Given the description of an element on the screen output the (x, y) to click on. 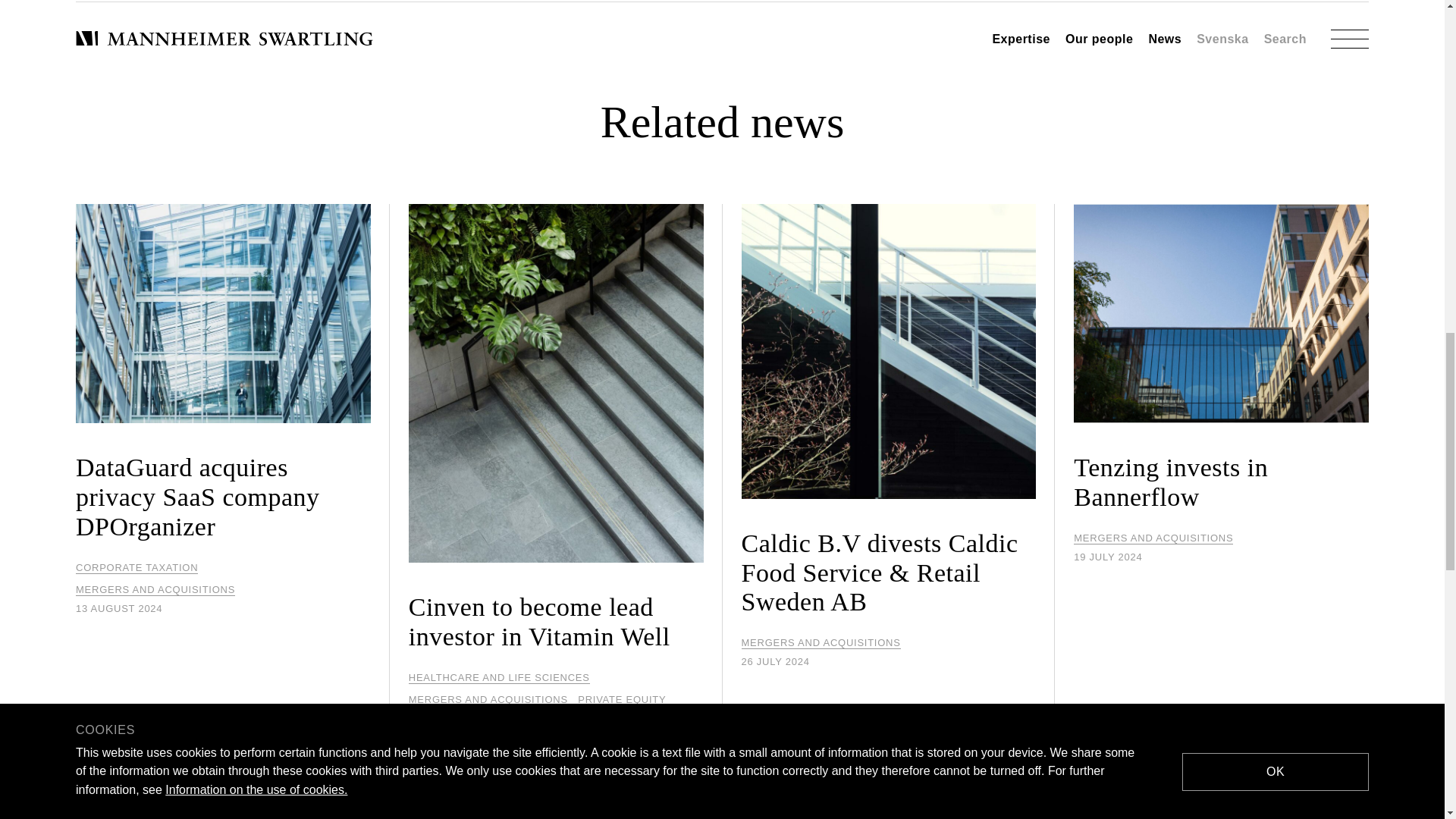
Tenzing invests in Bannerflow (1221, 357)
CORPORATE TAXATION (136, 567)
MERGERS AND ACQUISITIONS (154, 589)
MERGERS AND ACQUISITIONS (821, 643)
Tenzing invests in Bannerflow (1221, 357)
MERGERS AND ACQUISITIONS (488, 699)
HEALTHCARE AND LIFE SCIENCES (499, 677)
MERGERS AND ACQUISITIONS (1153, 538)
PRIVATE EQUITY (621, 699)
